Given the description of an element on the screen output the (x, y) to click on. 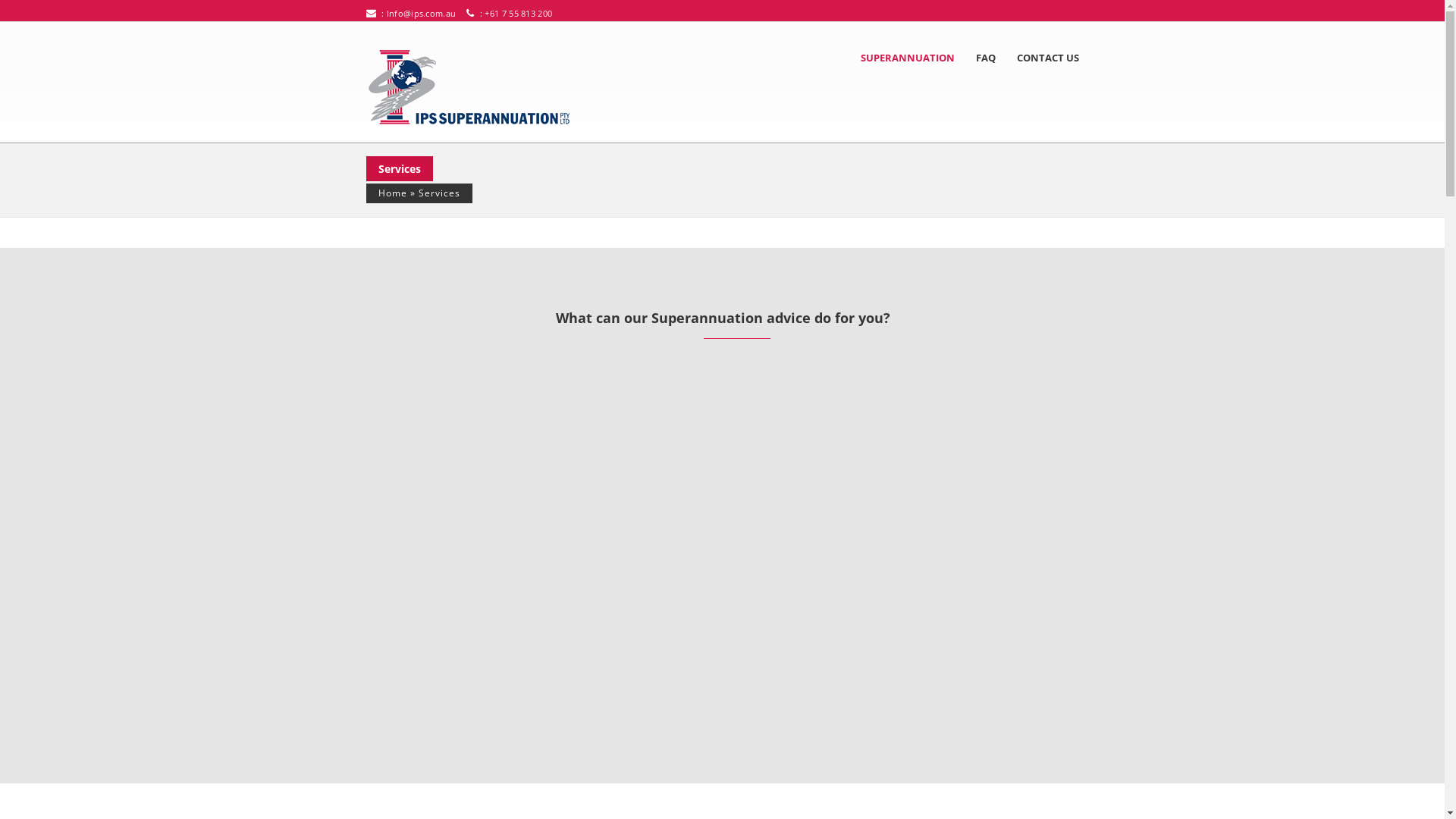
CONTACT US Element type: text (1041, 57)
SUPERANNUATION Element type: text (911, 57)
Home Element type: text (391, 192)
Info@ips.com.au Element type: text (421, 12)
IPS Super Element type: hover (488, 86)
FAQ Element type: text (984, 57)
